Given the description of an element on the screen output the (x, y) to click on. 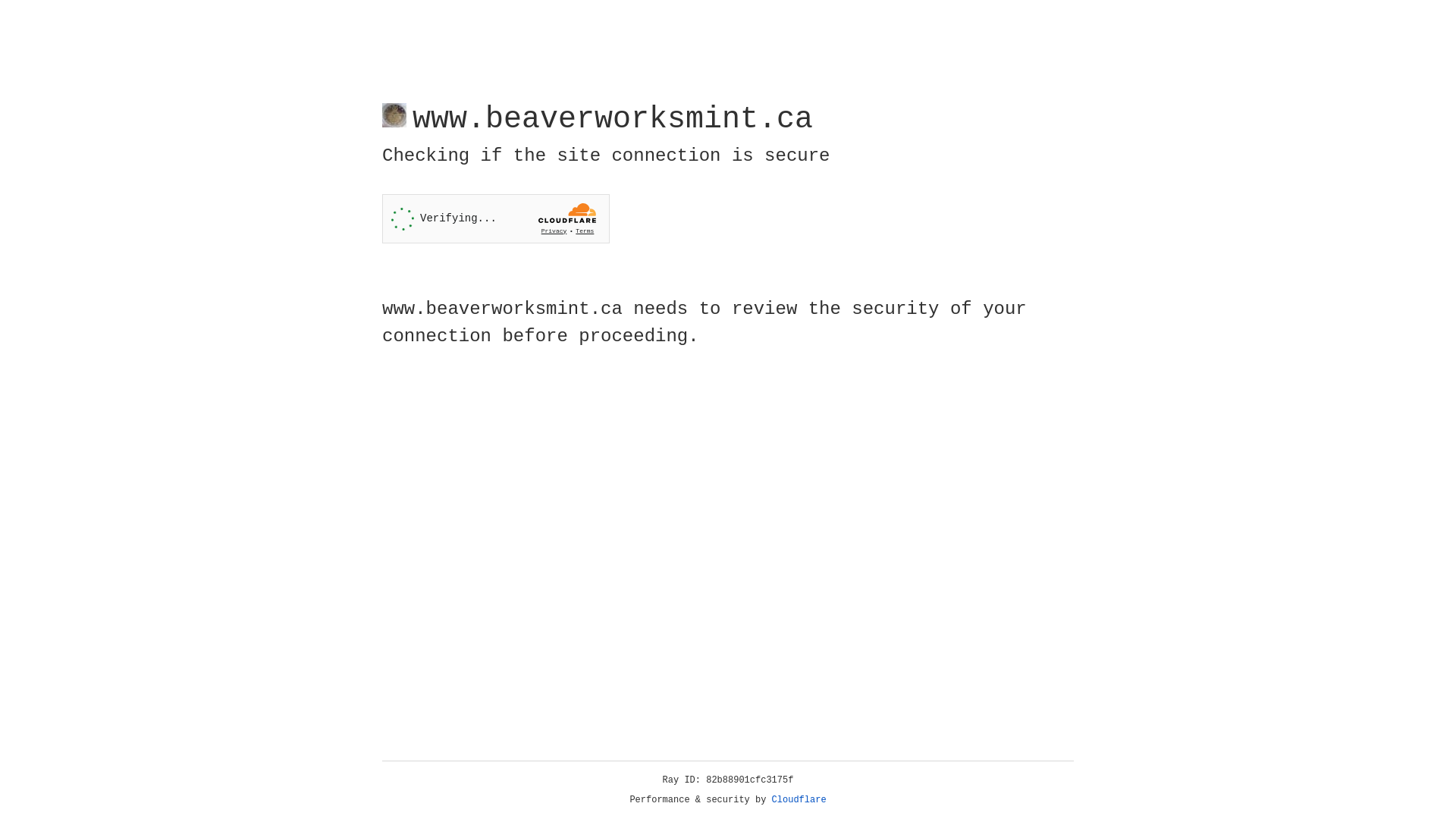
Widget containing a Cloudflare security challenge Element type: hover (495, 218)
Cloudflare Element type: text (798, 799)
